Given the description of an element on the screen output the (x, y) to click on. 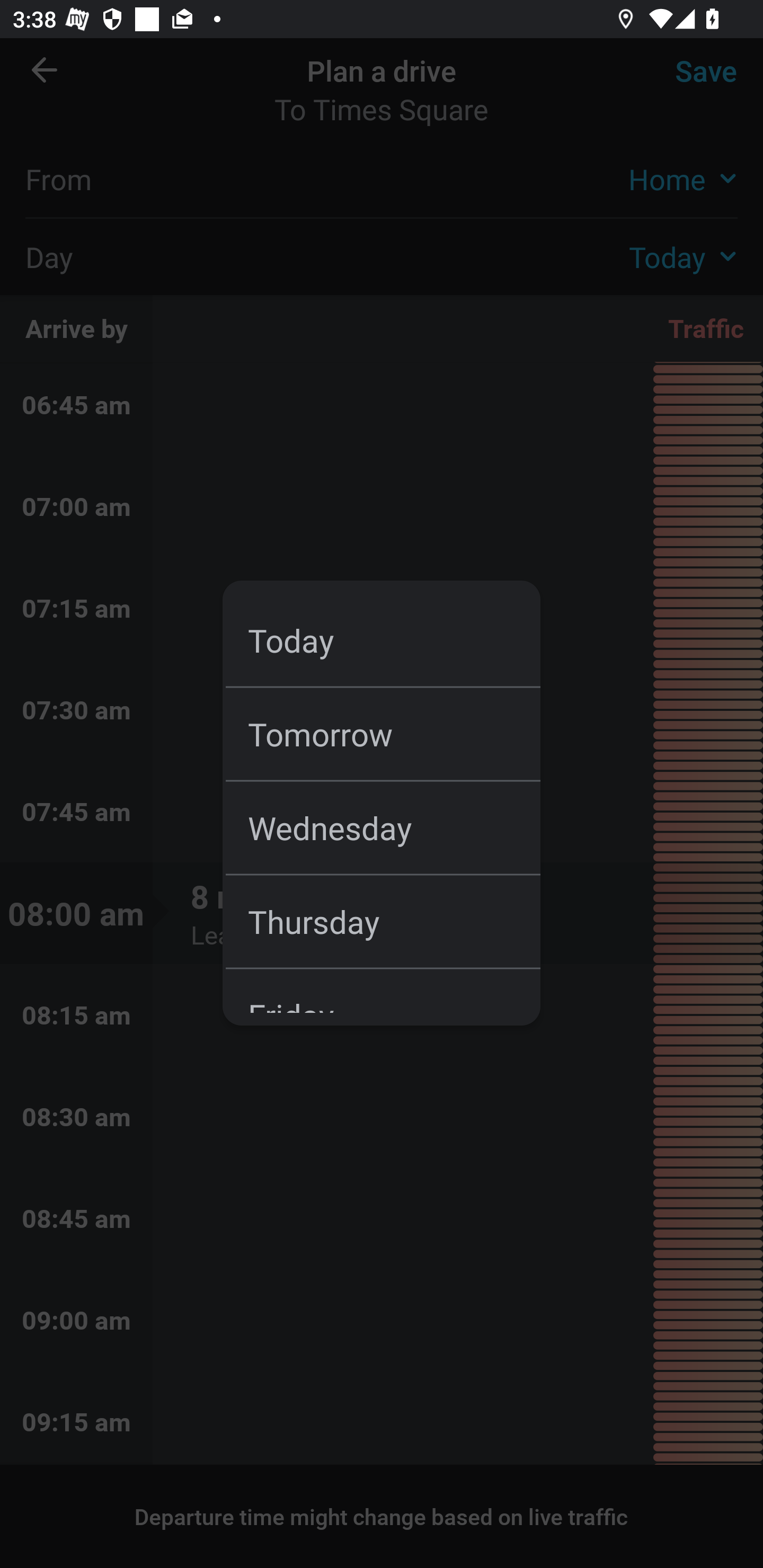
Today (393, 640)
Tomorrow (393, 733)
Wednesday (393, 827)
Thursday (393, 921)
